Given the description of an element on the screen output the (x, y) to click on. 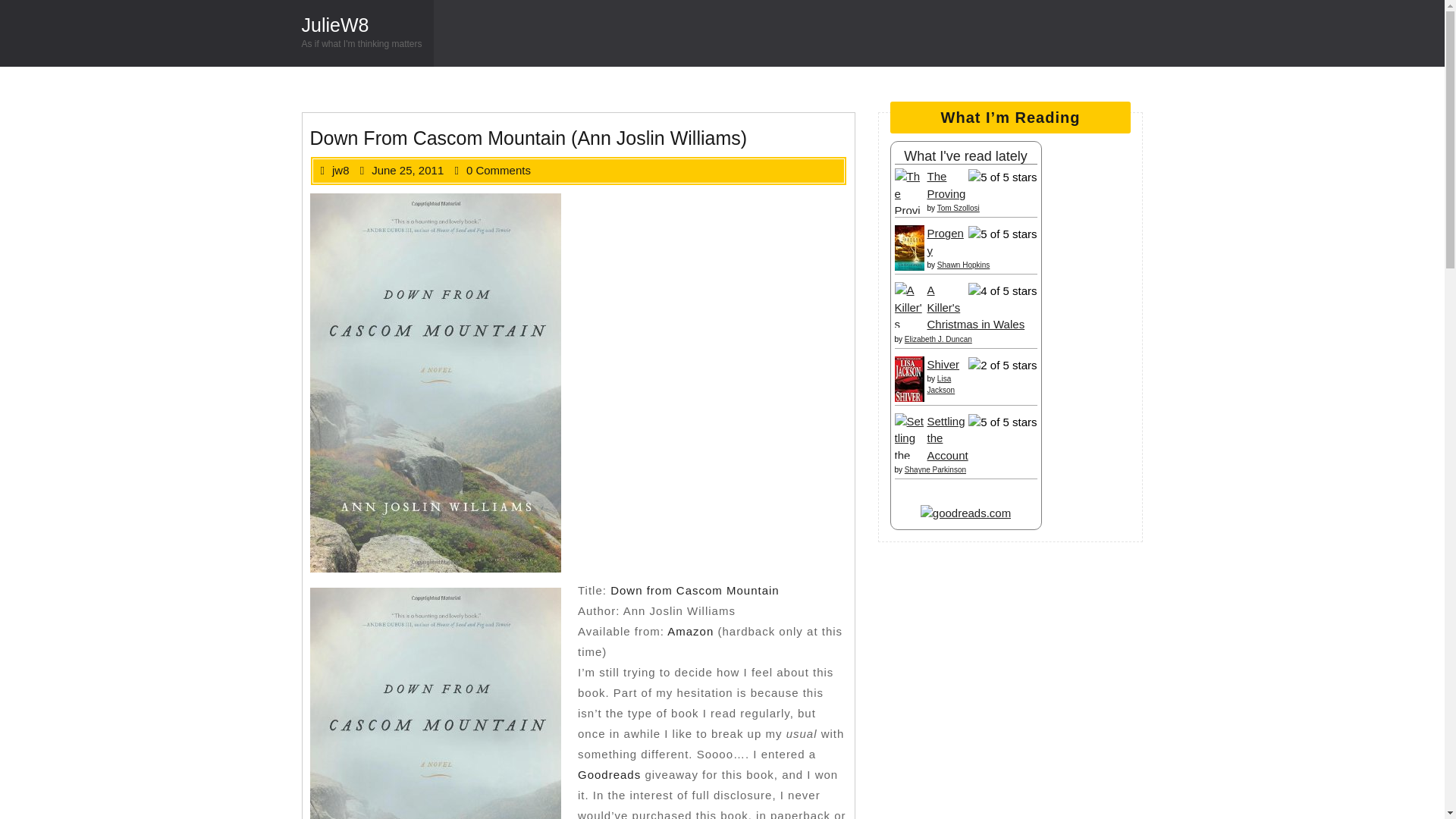
Down from Cascom Mountain (694, 590)
Down from Cascom Mountain (434, 699)
Lisa Jackson (940, 383)
5 of 5 stars, it was amazing (1002, 234)
Progeny (944, 241)
4 of 5 stars, really liked it (1002, 291)
5 of 5 stars, it was amazing (1002, 177)
Shayne Parkinson (935, 470)
JulieW8 (335, 25)
Elizabeth J. Duncan (938, 338)
Amazon (689, 631)
The Proving (909, 201)
Goodreads (609, 774)
5 of 5 stars, it was amazing (1002, 422)
The Proving (945, 184)
